Given the description of an element on the screen output the (x, y) to click on. 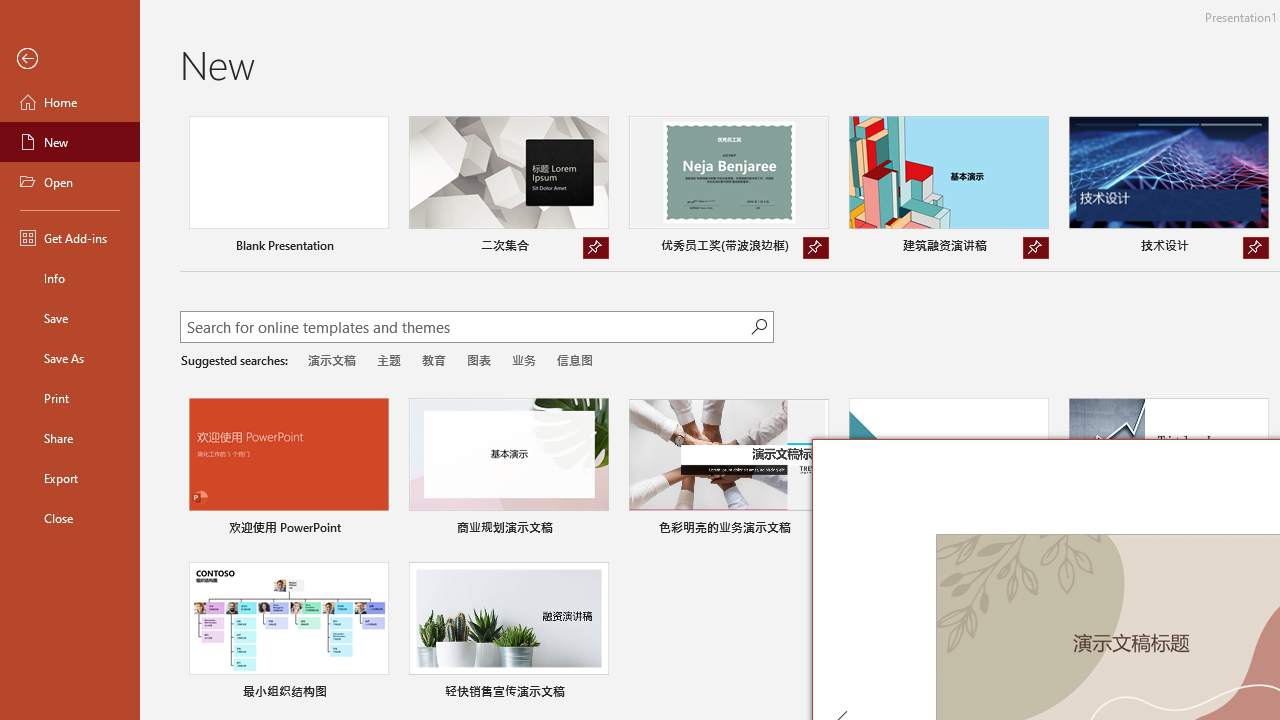
Start searching (758, 326)
Info (69, 277)
Export (69, 477)
Back (69, 59)
Unpin from list (1255, 247)
New (69, 141)
Print (69, 398)
Search for online templates and themes (465, 329)
